Given the description of an element on the screen output the (x, y) to click on. 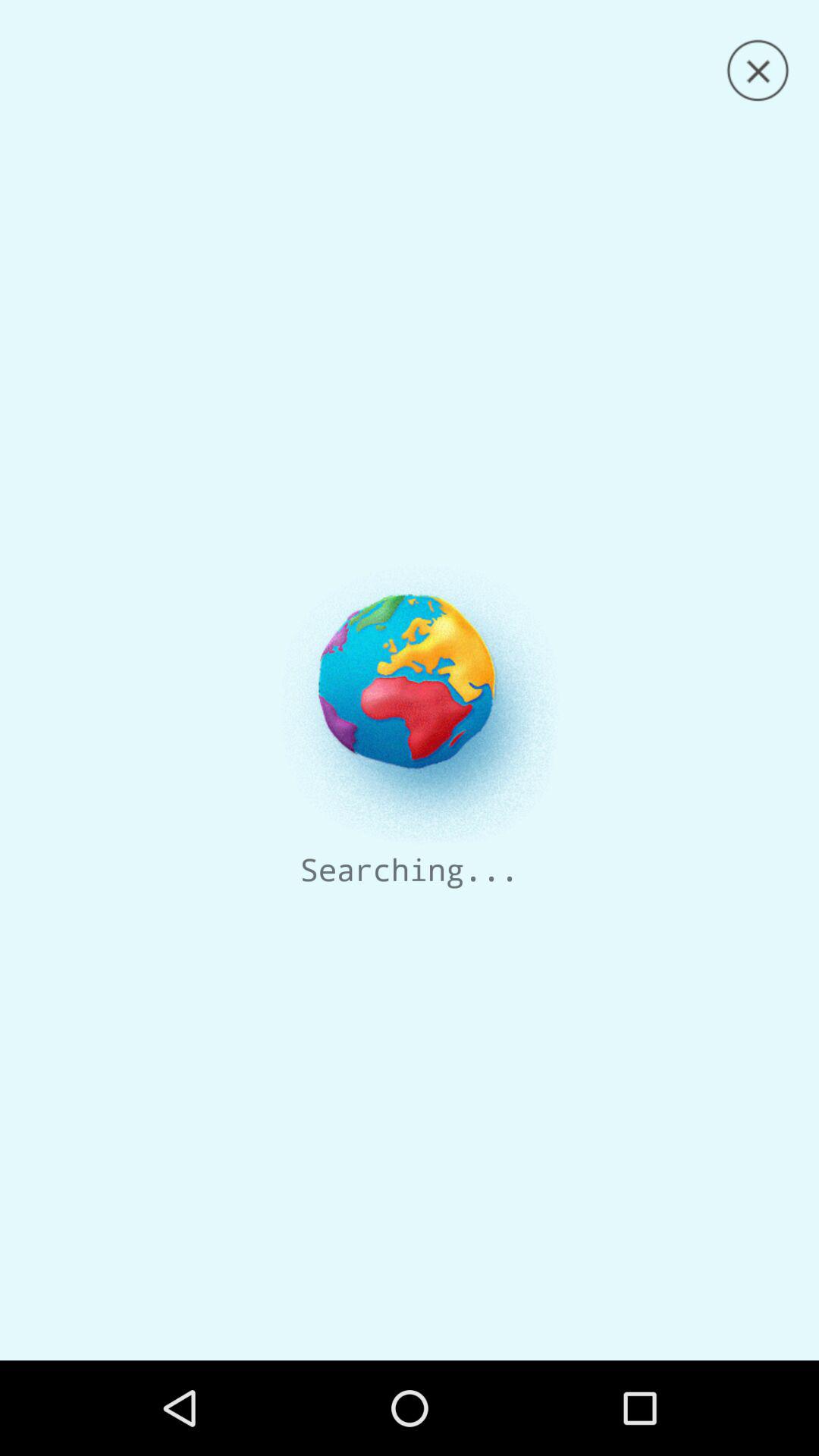
click icon at the top right corner (757, 70)
